Given the description of an element on the screen output the (x, y) to click on. 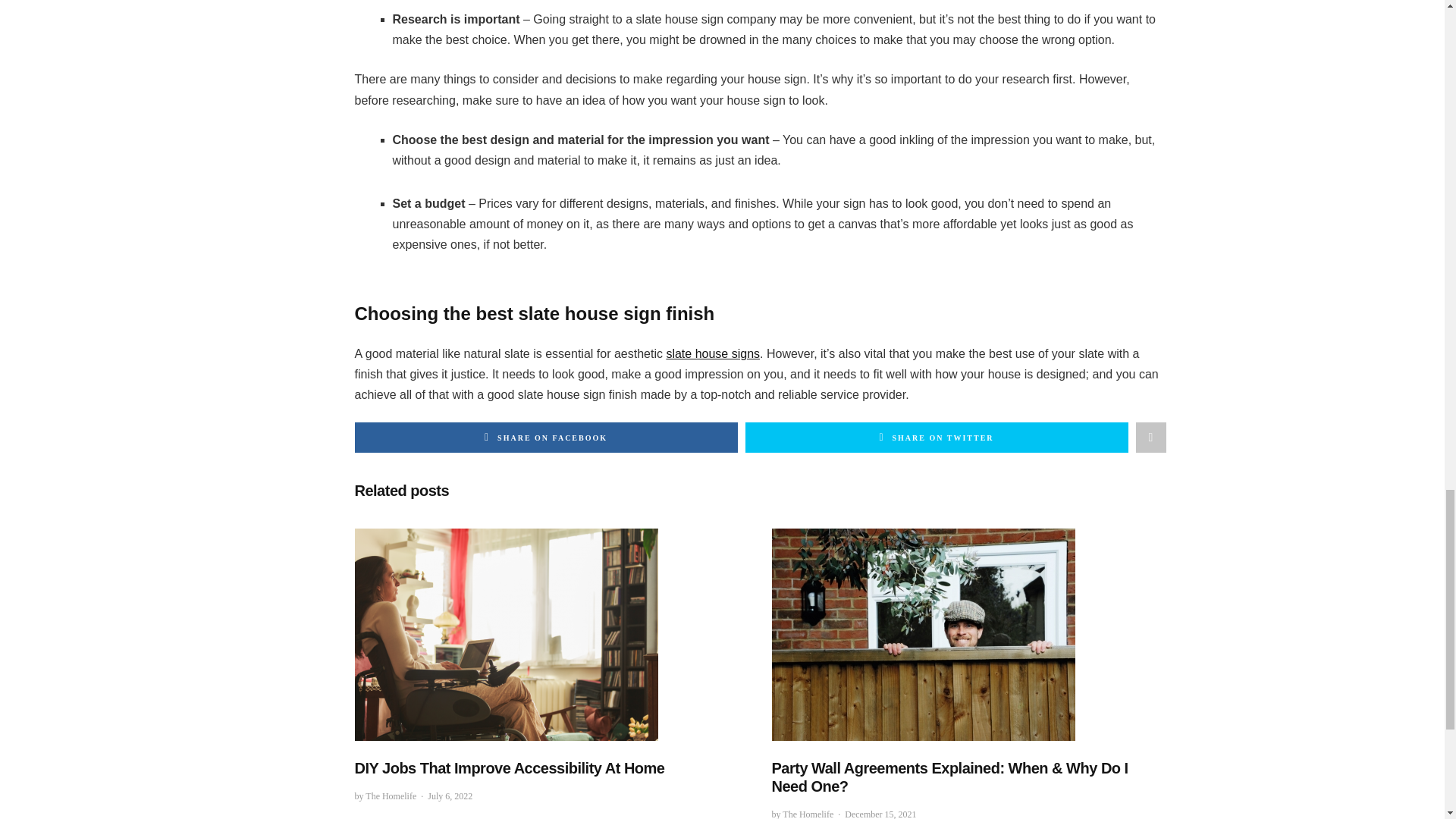
Posts by The Homelife (390, 796)
Tweet (935, 437)
Share (1150, 437)
Share this (546, 437)
Posts by The Homelife (807, 814)
